Given the description of an element on the screen output the (x, y) to click on. 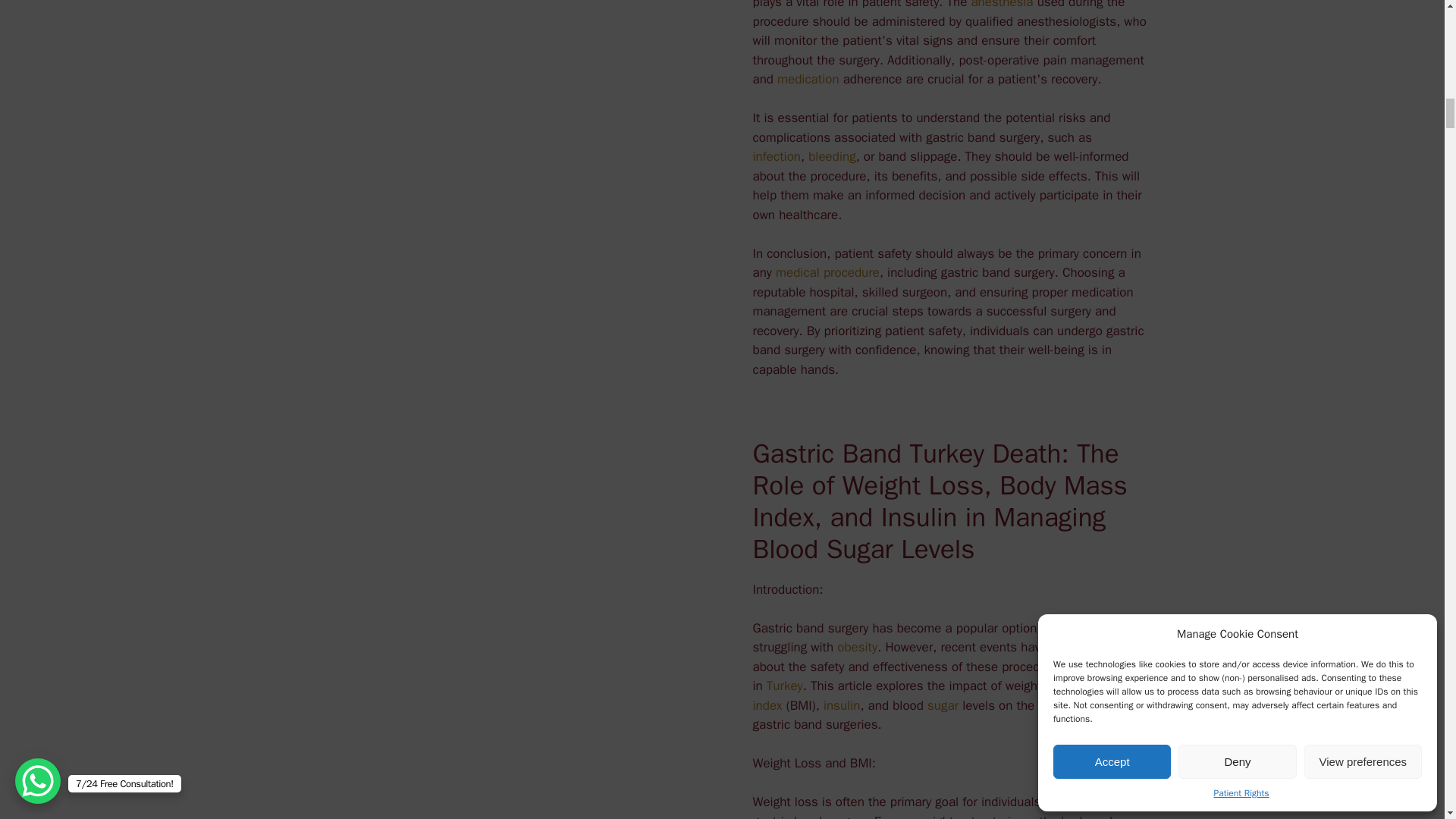
sugar (942, 705)
medical procedure (827, 272)
